Given the description of an element on the screen output the (x, y) to click on. 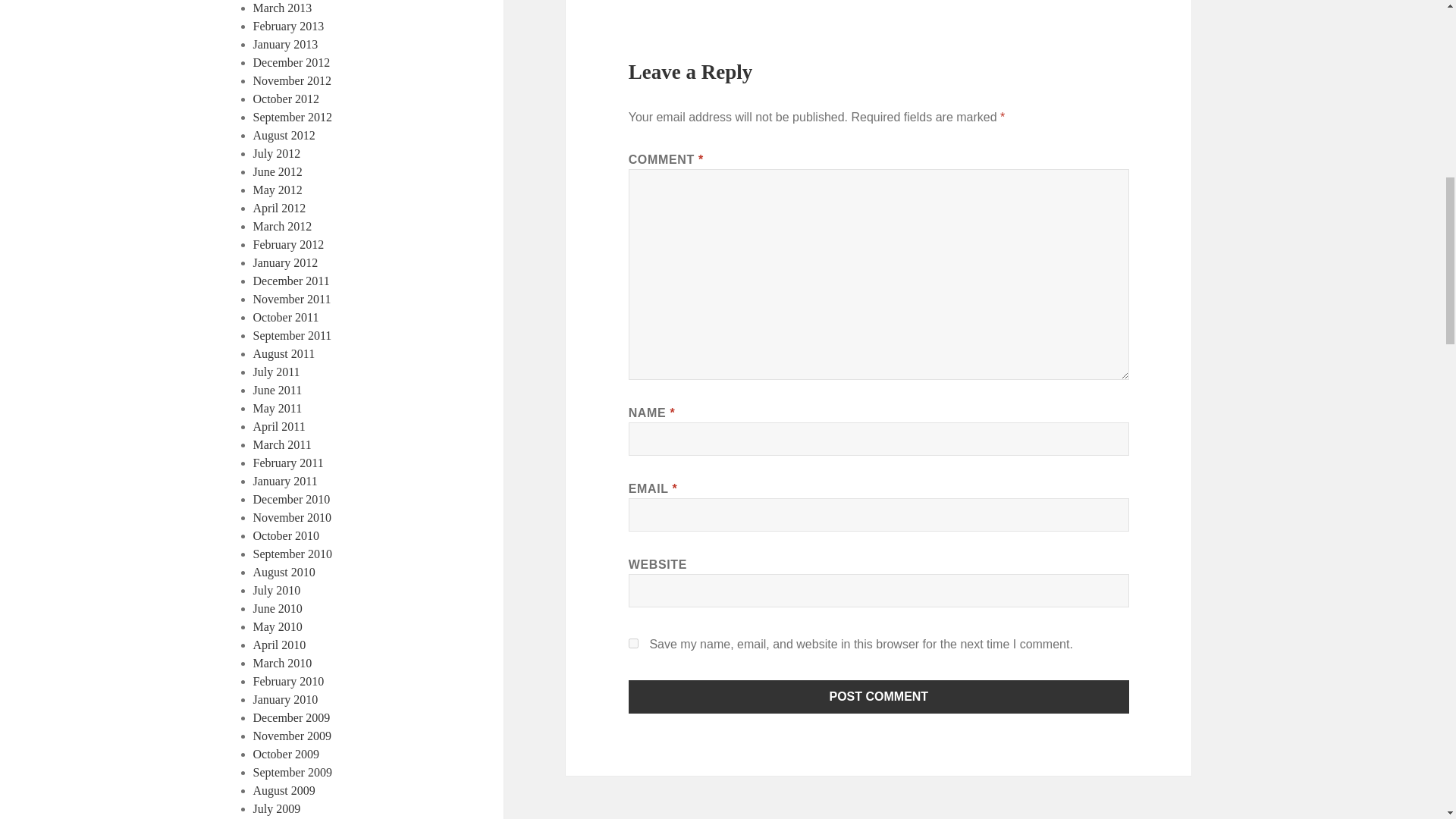
September 2012 (292, 116)
October 2012 (286, 98)
April 2012 (279, 207)
Post Comment (878, 696)
November 2012 (292, 80)
yes (633, 643)
January 2013 (285, 43)
May 2012 (277, 189)
June 2012 (277, 171)
March 2013 (283, 7)
